Given the description of an element on the screen output the (x, y) to click on. 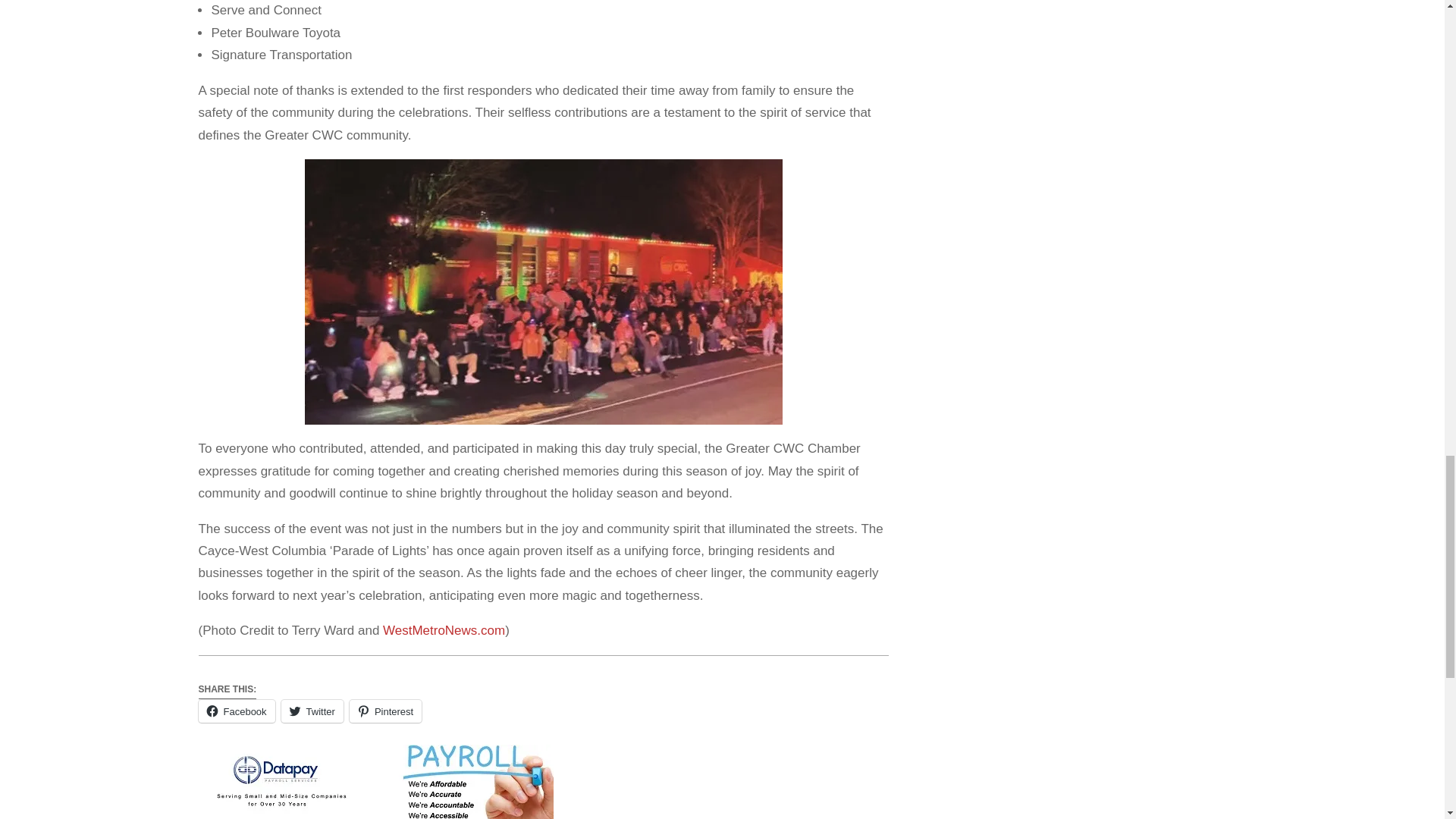
Facebook (236, 711)
Pinterest (385, 711)
WestMetroNews.com (443, 630)
Click to share on Pinterest (385, 711)
Click to share on Facebook (236, 711)
Click to share on Twitter (312, 711)
Twitter (312, 711)
